Given the description of an element on the screen output the (x, y) to click on. 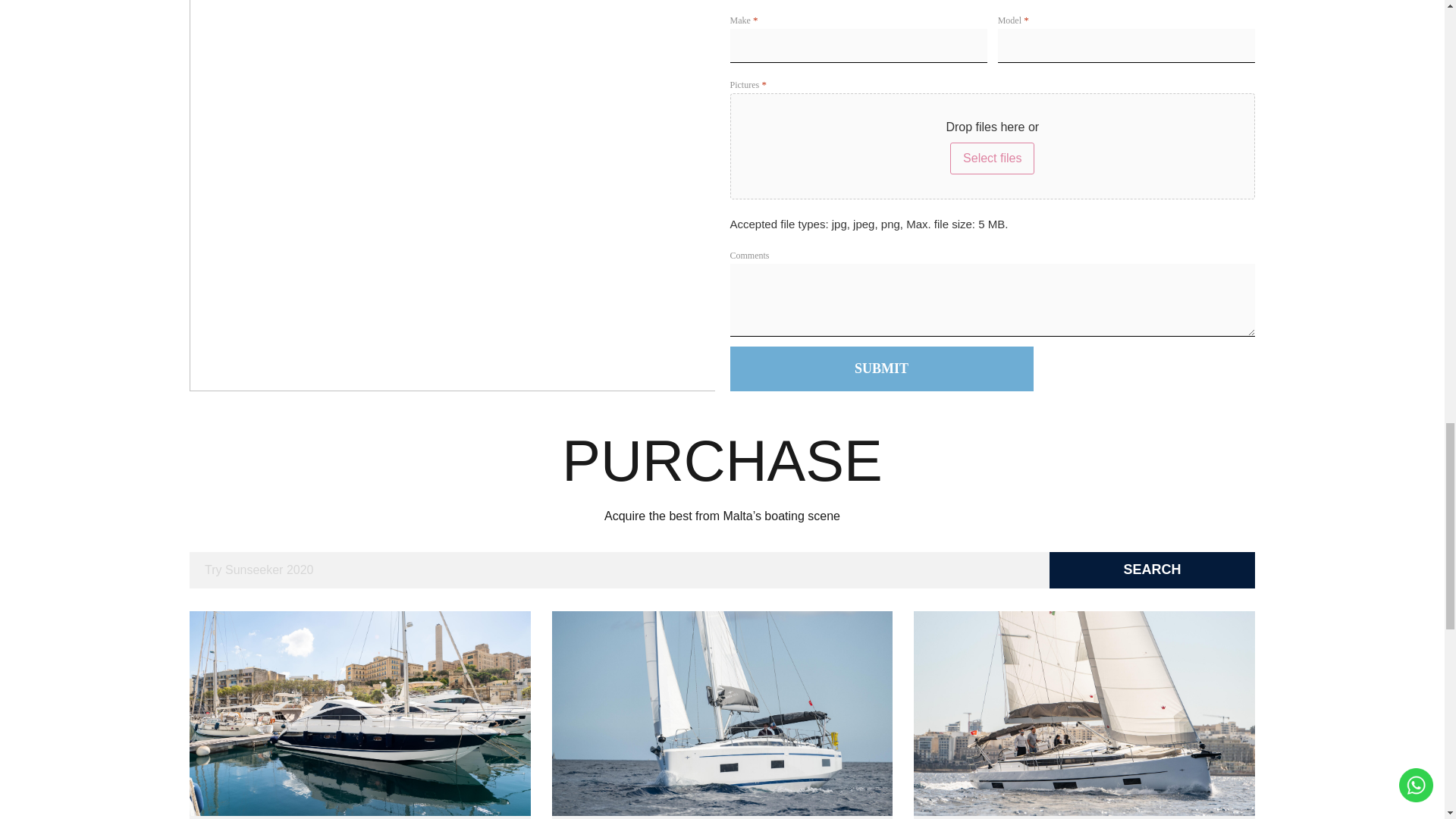
Search (1152, 570)
Submit (880, 368)
Search (1152, 570)
Submit (880, 368)
Select files (991, 158)
